Given the description of an element on the screen output the (x, y) to click on. 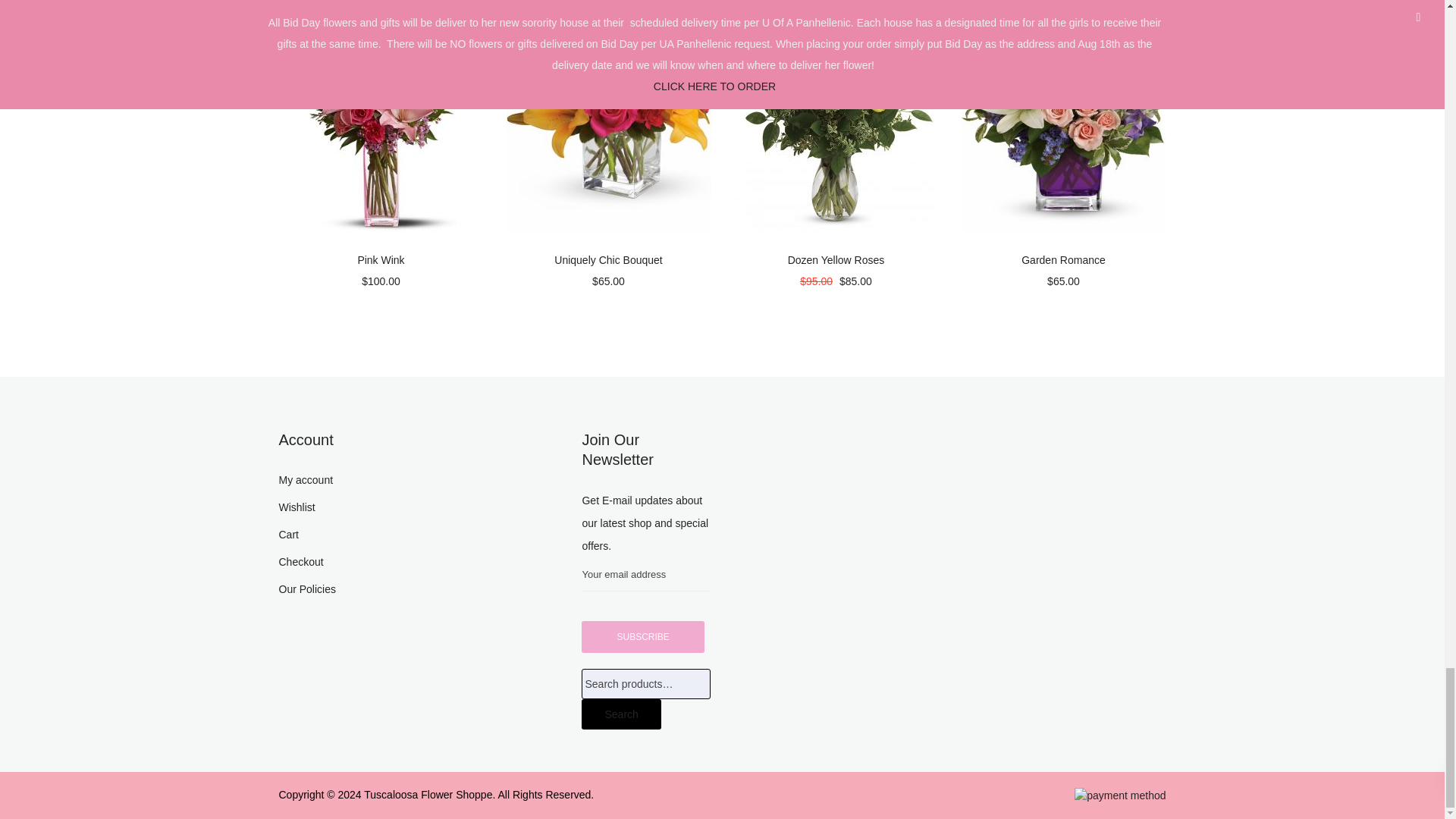
Subscribe (641, 636)
